Given the description of an element on the screen output the (x, y) to click on. 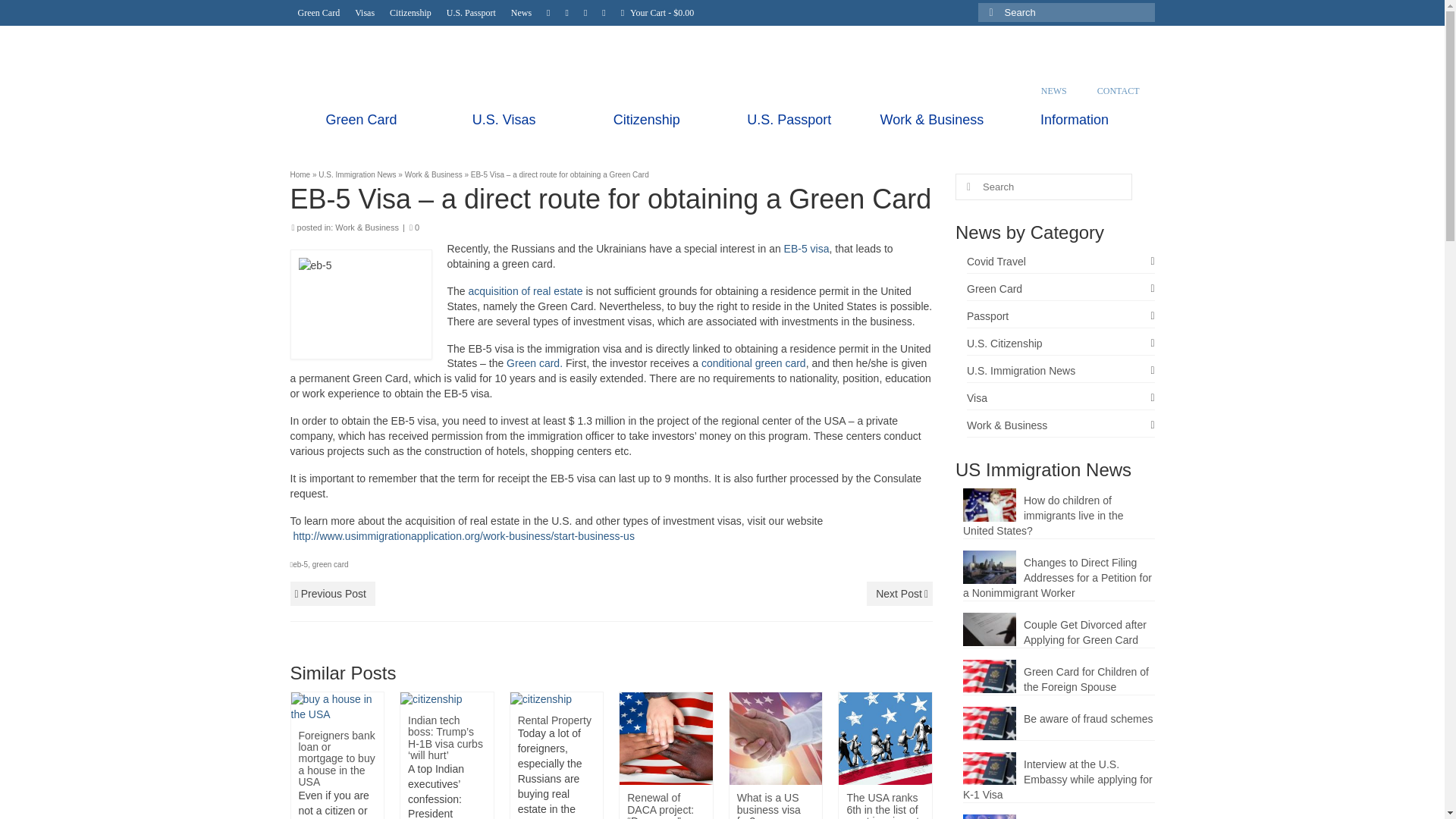
View your shopping cart (656, 12)
Green Card (318, 12)
Rental Property (541, 698)
NEWS (1053, 90)
U.S. Passport (471, 12)
Citizenship (410, 12)
Foreigners bank loan or mortgage to buy a house in the USA (337, 705)
What is a US business visa for? (775, 737)
U.S. Immigration Information (502, 48)
